Given the description of an element on the screen output the (x, y) to click on. 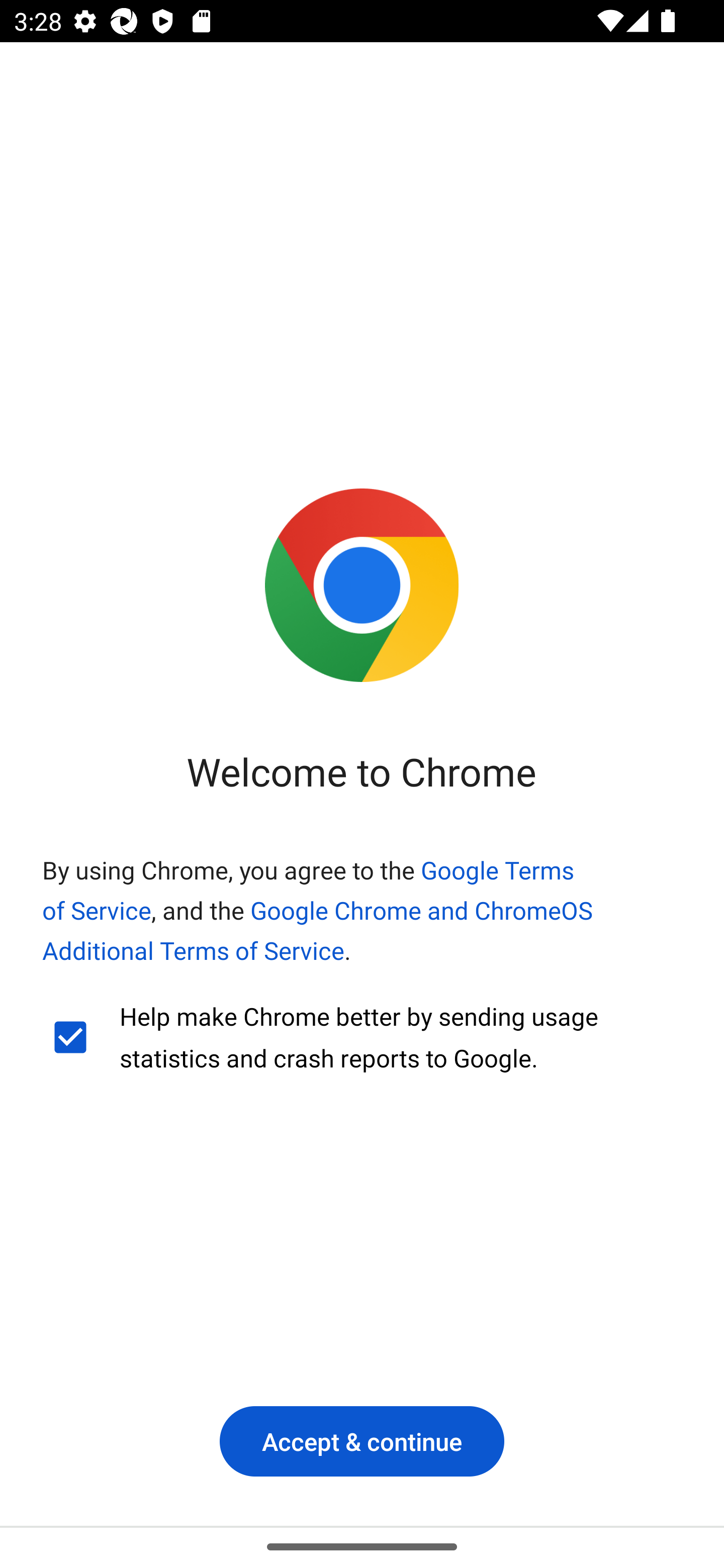
Accept & continue (361, 1440)
